Given the description of an element on the screen output the (x, y) to click on. 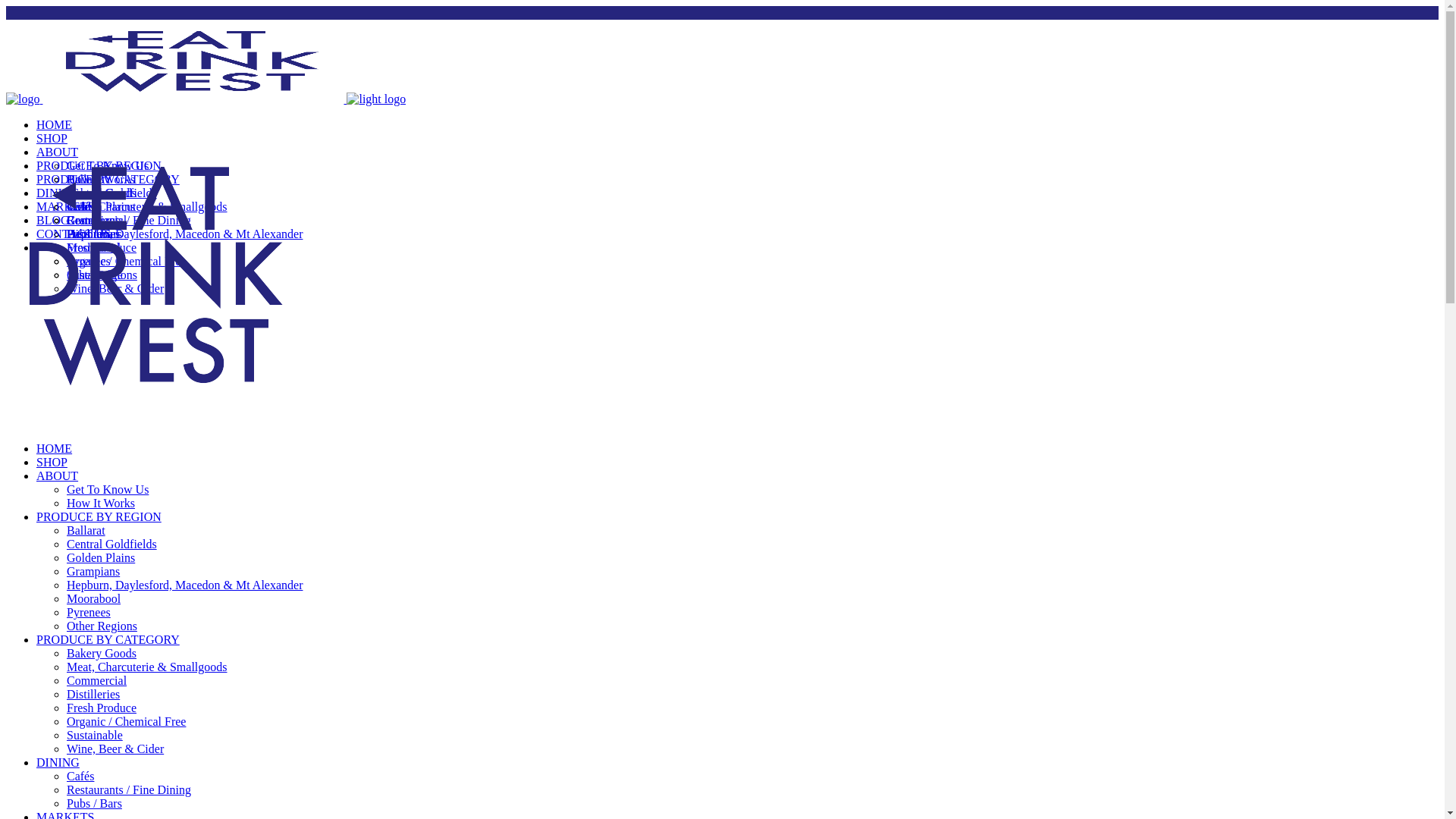
Get To Know Us Element type: text (107, 489)
Restaurants / Fine Dining Element type: text (128, 219)
Wine, Beer & Cider Element type: text (114, 288)
Sustainable Element type: text (94, 734)
Pubs / Bars Element type: text (94, 803)
Meat, Charcuterie & Smallgoods Element type: text (146, 666)
Moorabool Element type: text (93, 598)
HOME Element type: text (54, 448)
Central Goldfields Element type: text (111, 192)
Golden Plains Element type: text (100, 206)
BLOG Element type: text (52, 219)
Other Regions Element type: text (101, 625)
Commercial Element type: text (96, 219)
Central Goldfields Element type: text (111, 543)
Moorabool Element type: text (93, 247)
PRODUCE BY CATEGORY Element type: text (107, 639)
DINING Element type: text (57, 192)
HOME Element type: text (54, 124)
Hepburn, Daylesford, Macedon & Mt Alexander Element type: text (184, 233)
Golden Plains Element type: text (100, 557)
Sustainable Element type: text (94, 274)
Get To Know Us Element type: text (107, 165)
SHOP Element type: text (51, 461)
Pyrenees Element type: text (88, 611)
Grampians Element type: text (92, 570)
Grampians Element type: text (92, 219)
Hepburn, Daylesford, Macedon & Mt Alexander Element type: text (184, 584)
Wine, Beer & Cider Element type: text (114, 748)
Restaurants / Fine Dining Element type: text (128, 789)
Ballarat Element type: text (85, 178)
SHOP Element type: text (51, 137)
Other Regions Element type: text (101, 274)
Meat, Charcuterie & Smallgoods Element type: text (146, 206)
MARKETS Element type: text (65, 206)
Organic / Chemical Free Element type: text (125, 721)
Fresh Produce Element type: text (101, 247)
Bakery Goods Element type: text (101, 652)
CONTACT US Element type: text (73, 233)
DINING Element type: text (57, 762)
How It Works Element type: text (100, 178)
Distilleries Element type: text (92, 233)
How It Works Element type: text (100, 502)
Pyrenees Element type: text (88, 260)
Ballarat Element type: text (85, 530)
Fresh Produce Element type: text (101, 707)
Bakery Goods Element type: text (101, 192)
ABOUT Element type: text (57, 151)
PRODUCE BY REGION Element type: text (98, 165)
PRODUCE BY CATEGORY Element type: text (107, 178)
ABOUT Element type: text (57, 475)
Distilleries Element type: text (92, 693)
Commercial Element type: text (96, 680)
PRODUCE BY REGION Element type: text (98, 516)
Organic / Chemical Free Element type: text (125, 260)
Pubs / Bars Element type: text (94, 233)
